Given the description of an element on the screen output the (x, y) to click on. 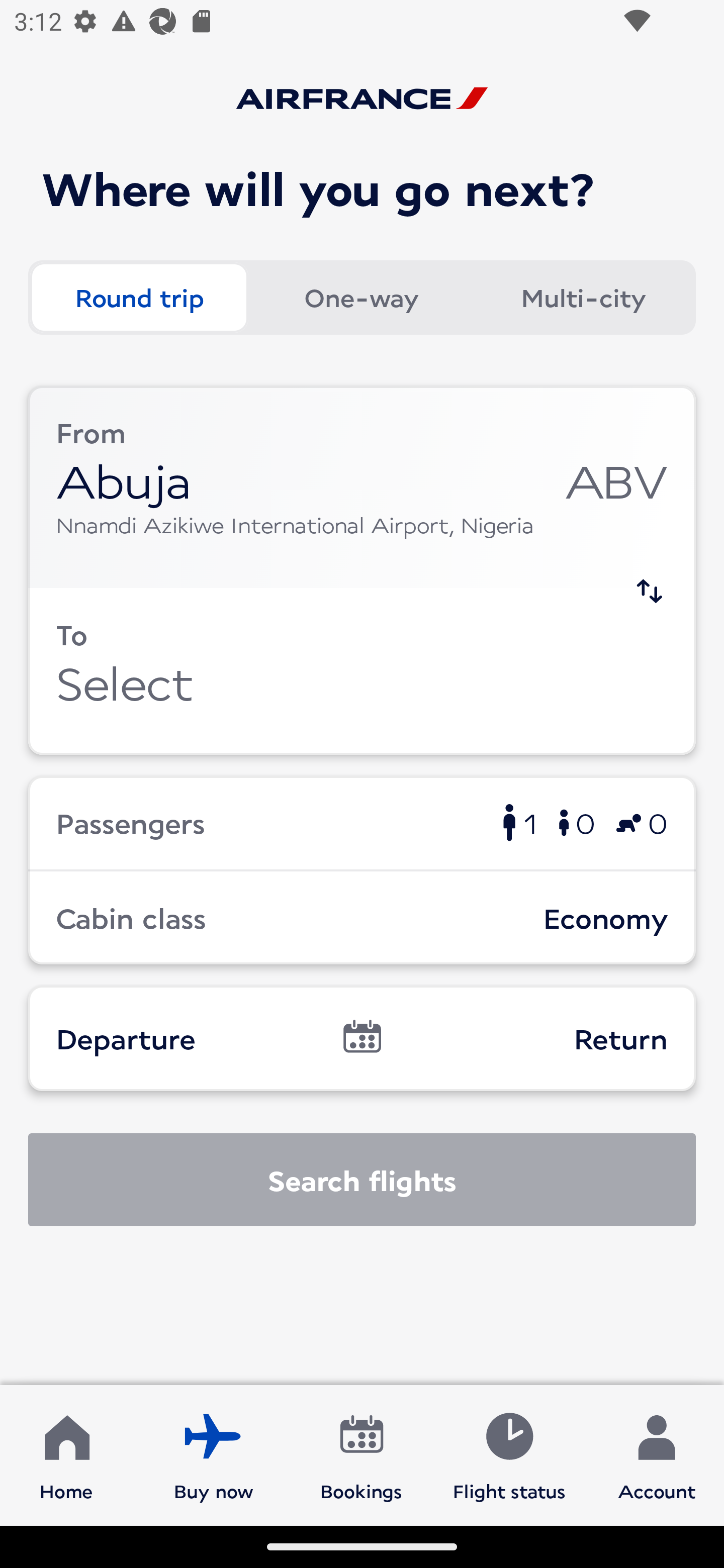
Round trip (139, 297)
One-way (361, 297)
Multi-city (583, 297)
To Select (361, 671)
Passengers 1 0 0 (361, 822)
Cabin class Economy (361, 917)
Departure Return (361, 1038)
Search flights (361, 1179)
Home (66, 1454)
Bookings (361, 1454)
Flight status (509, 1454)
Account (657, 1454)
